Given the description of an element on the screen output the (x, y) to click on. 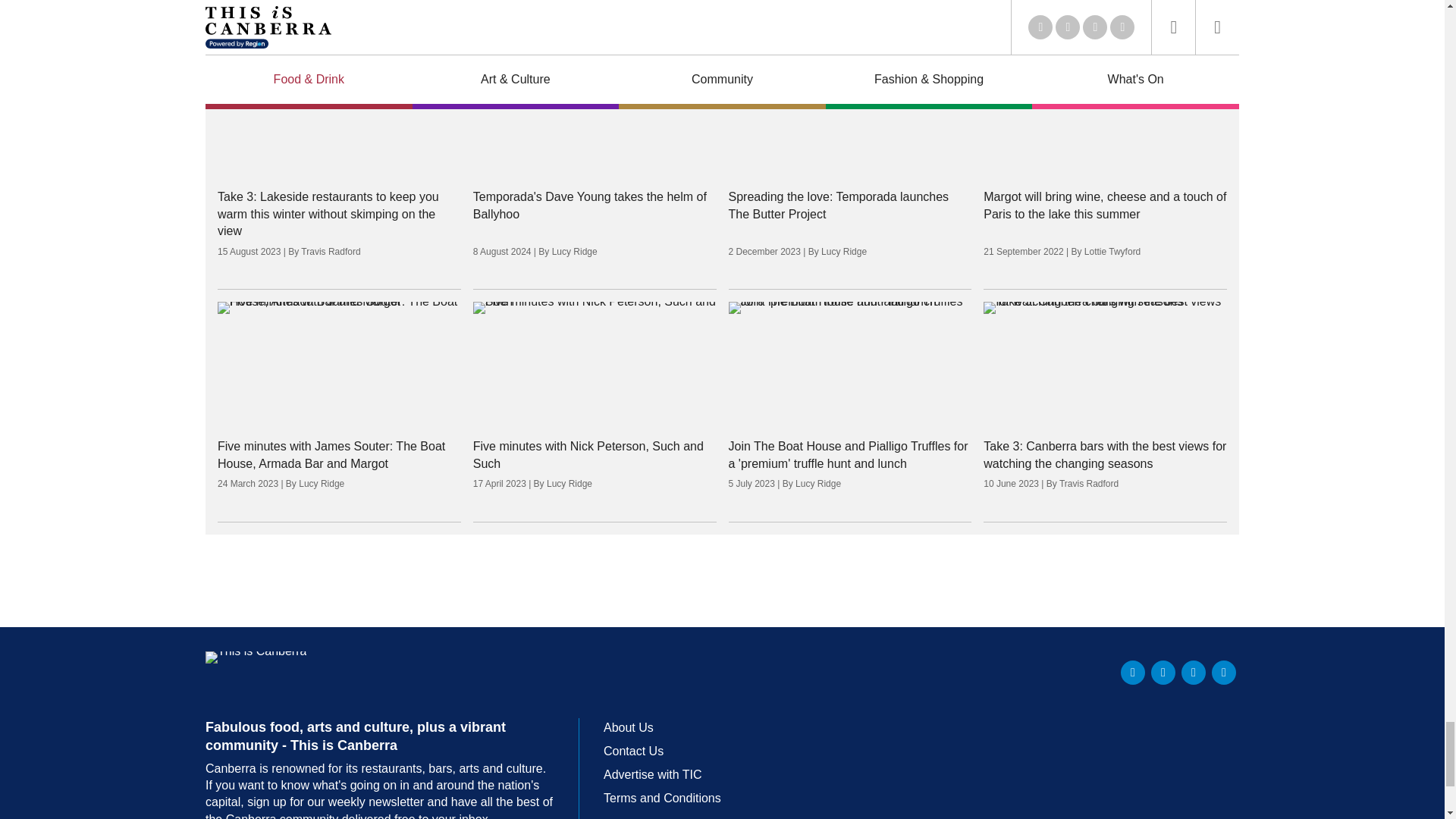
Facebook (1162, 671)
Instagram (1192, 671)
Twitter (1132, 671)
TikTok (1223, 671)
